Given the description of an element on the screen output the (x, y) to click on. 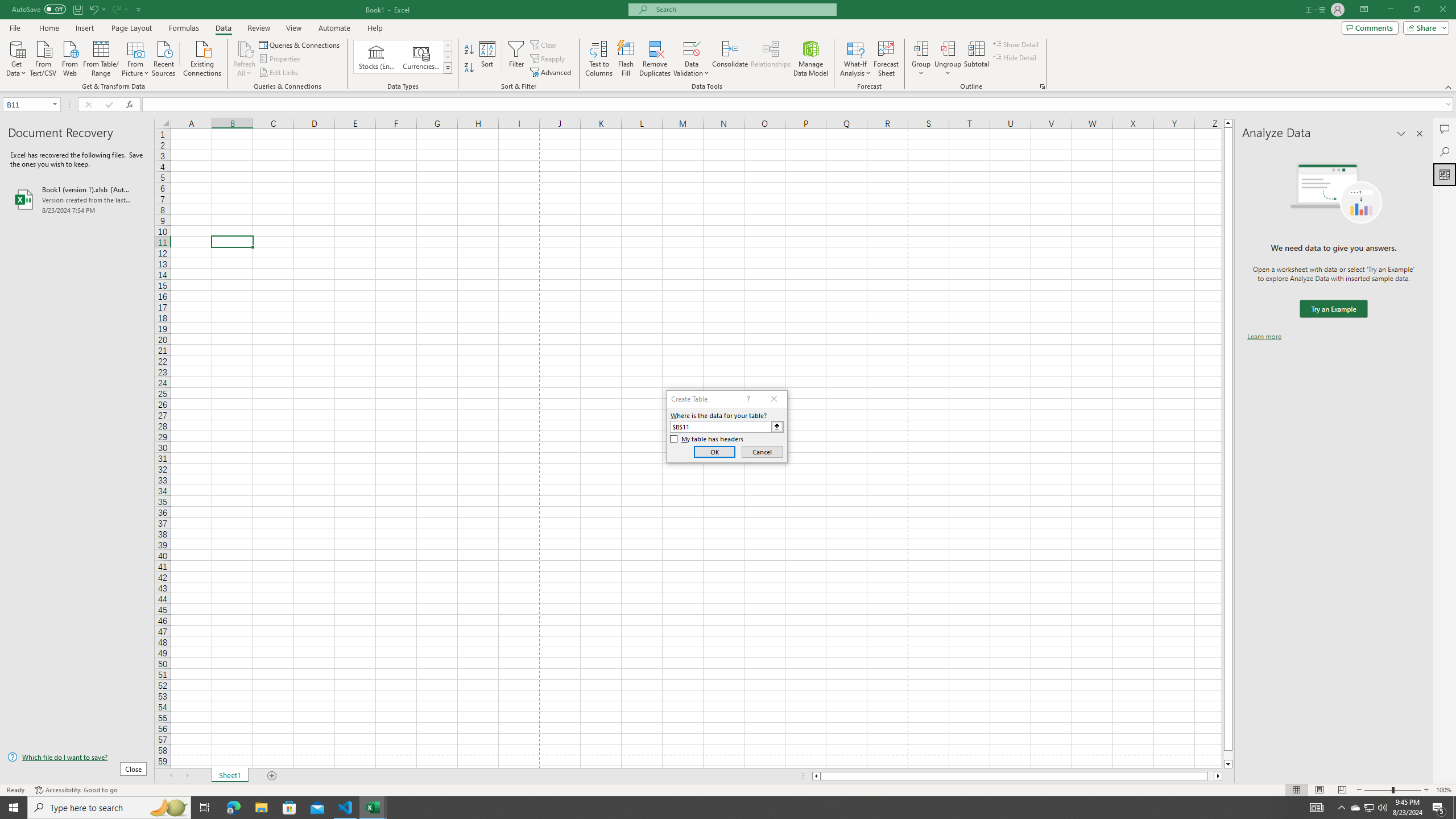
Microsoft search (742, 9)
Comments (1369, 27)
Group... (921, 48)
Collapse the Ribbon (1448, 86)
Class: NetUIScrollBar (1016, 775)
View (293, 28)
Open (54, 104)
Learn more (1264, 336)
What-If Analysis (855, 58)
Book1 (version 1).xlsb  [AutoRecovered] (77, 199)
File Tab (15, 27)
Page right (1211, 775)
Stocks (English) (375, 56)
Refresh All (244, 58)
Comments (1444, 128)
